Given the description of an element on the screen output the (x, y) to click on. 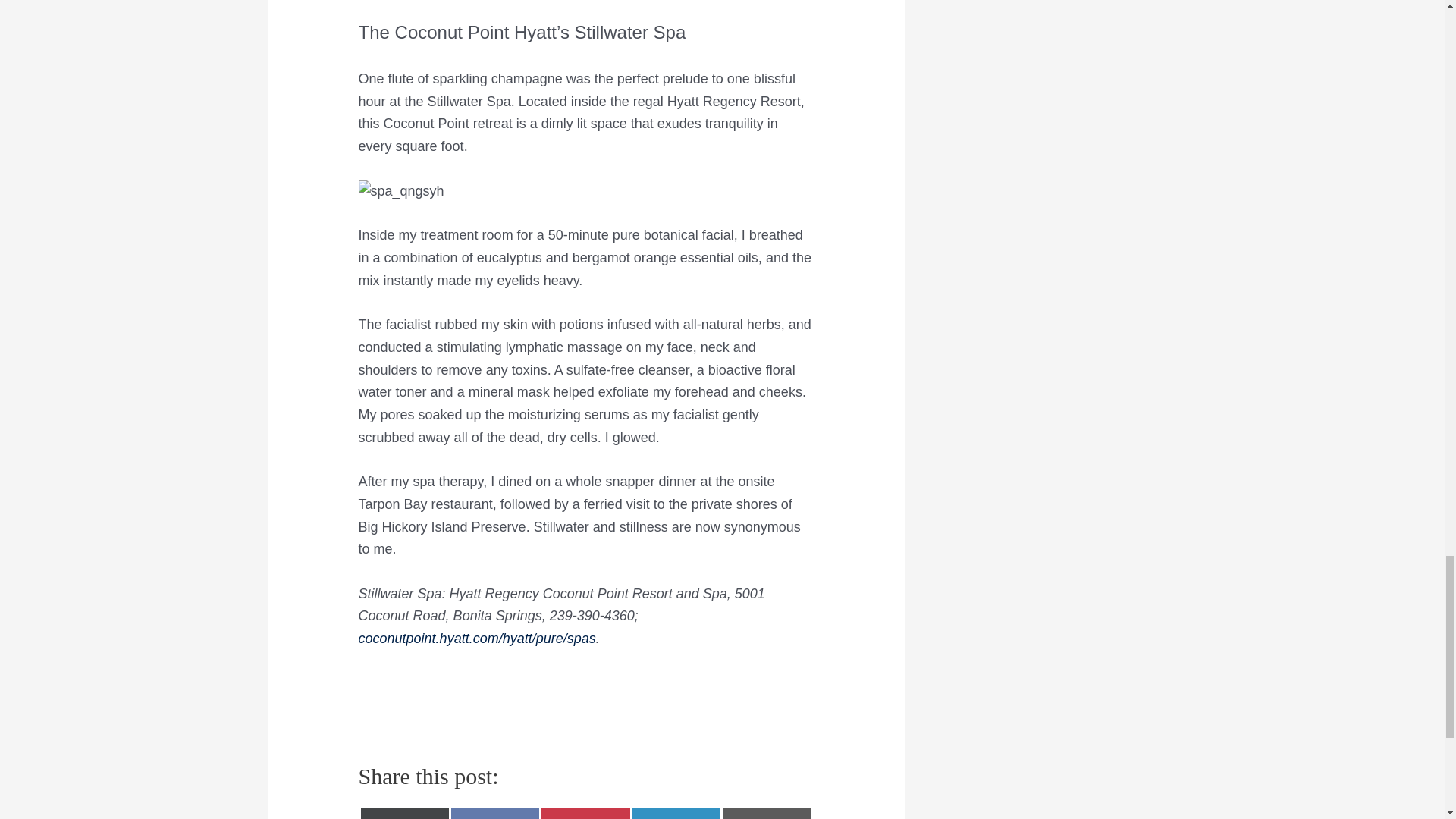
Share on LinkedIn (675, 813)
Share on Facebook (494, 813)
Share on Pinterest (584, 813)
Share on Email (766, 813)
